Given the description of an element on the screen output the (x, y) to click on. 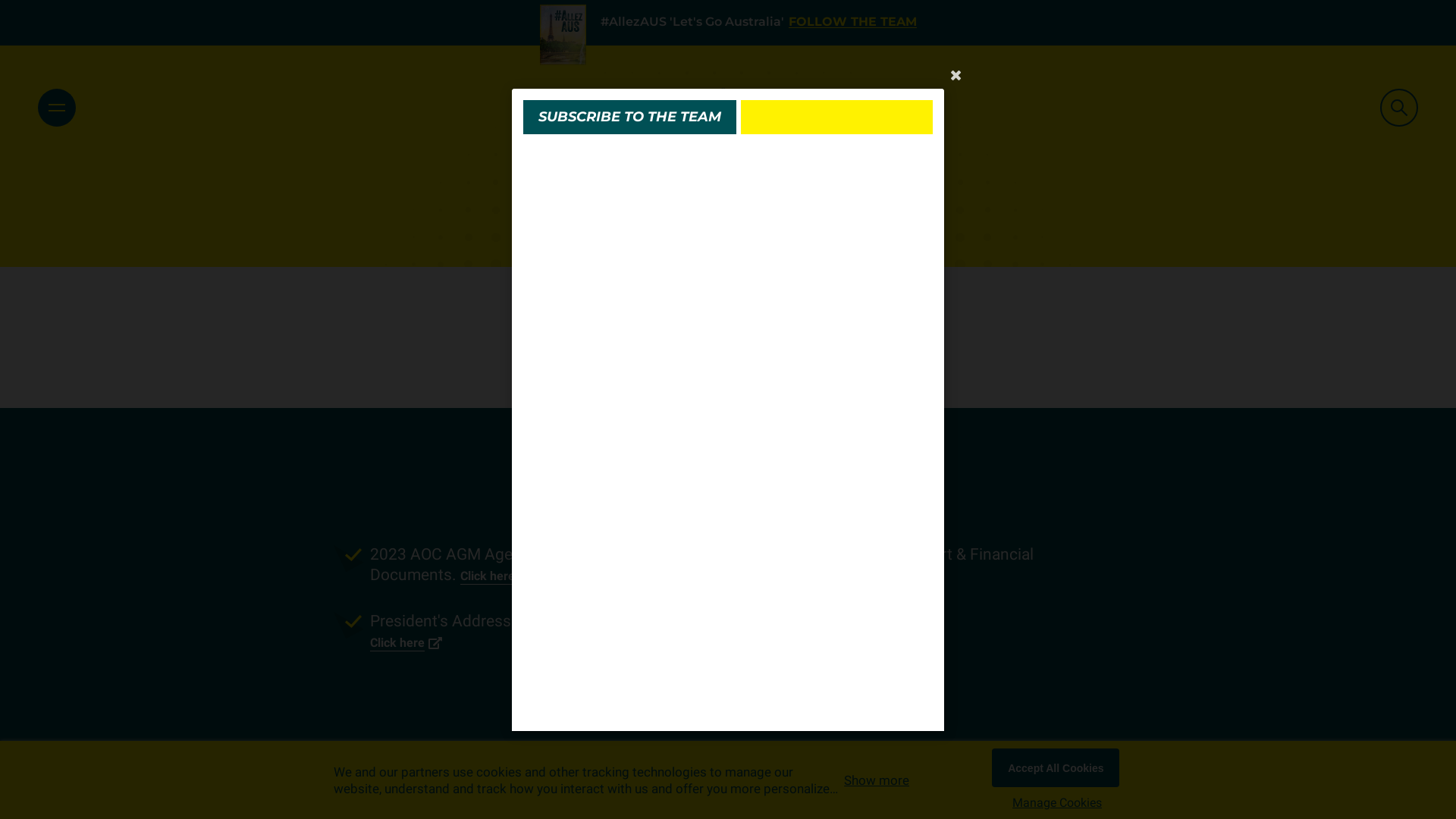
HOME Element type: text (728, 167)
Click here Element type: text (406, 644)
Click here Element type: text (496, 577)
FOLLOW THE TEAM Element type: text (852, 22)
Manage Cookies Element type: text (1056, 802)
Click here Element type: text (900, 577)
Accept All Cookies Element type: text (1055, 767)
